Given the description of an element on the screen output the (x, y) to click on. 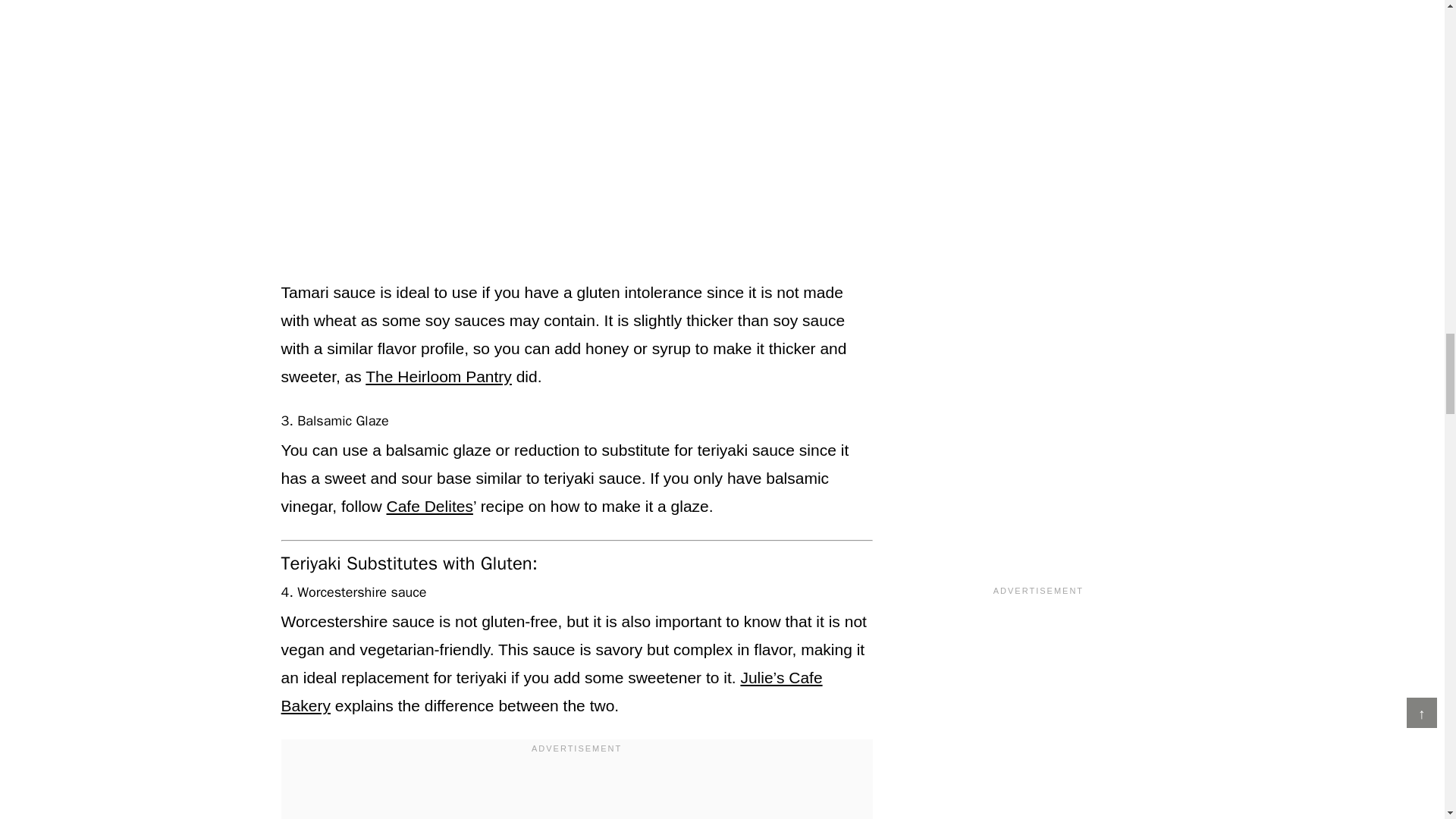
Cafe Delites (430, 506)
The Heirloom Pantry (438, 375)
